Given the description of an element on the screen output the (x, y) to click on. 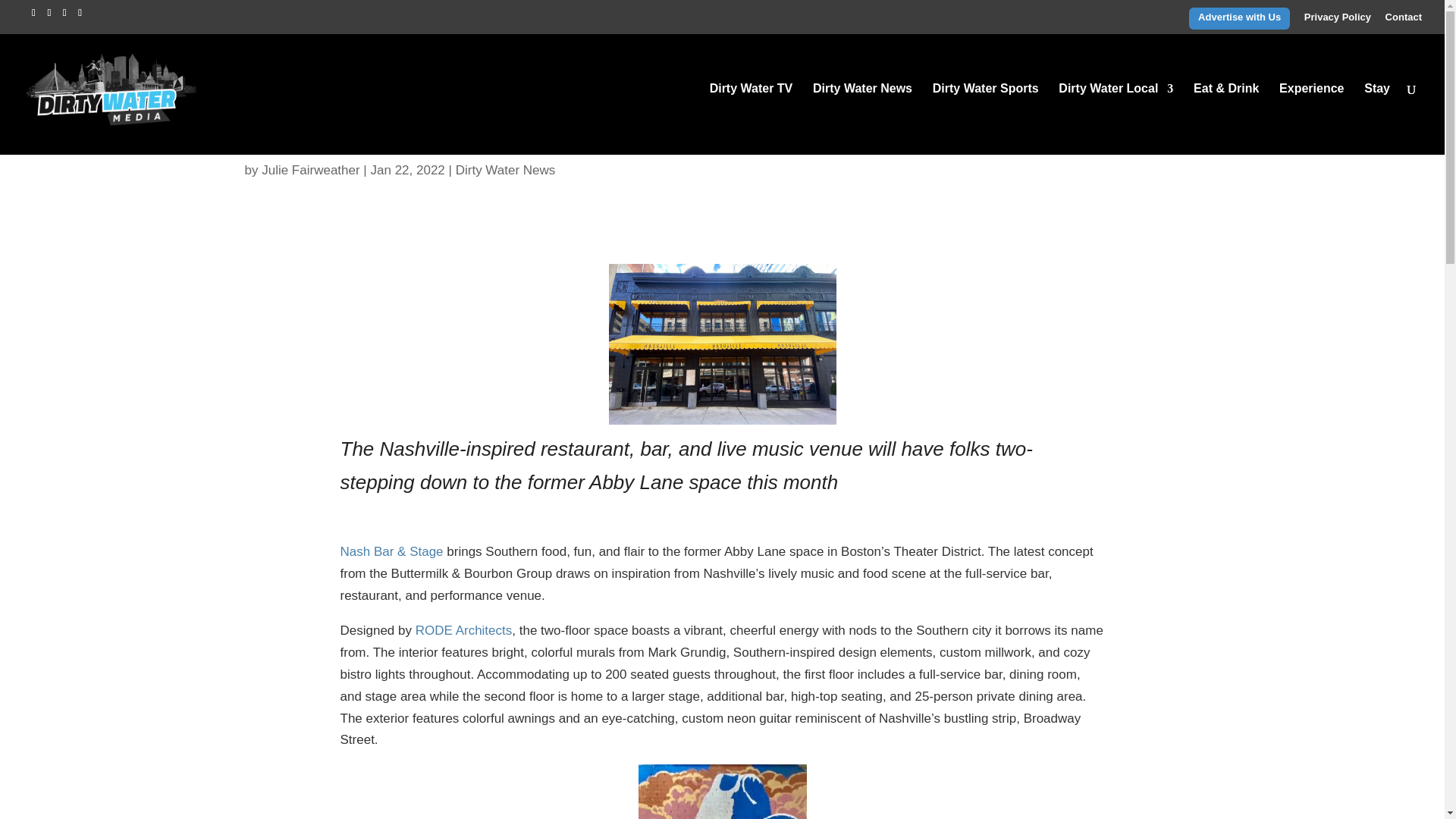
Dirty Water Local (1115, 118)
Advertise with Us (1239, 20)
Posts by Julie Fairweather (310, 169)
Julie Fairweather (310, 169)
Dirty Water News (505, 169)
Dirty Water Sports (986, 118)
Dirty Water News (862, 118)
RODE Architects (463, 630)
Privacy Policy (1337, 20)
Experience (1311, 118)
